Given the description of an element on the screen output the (x, y) to click on. 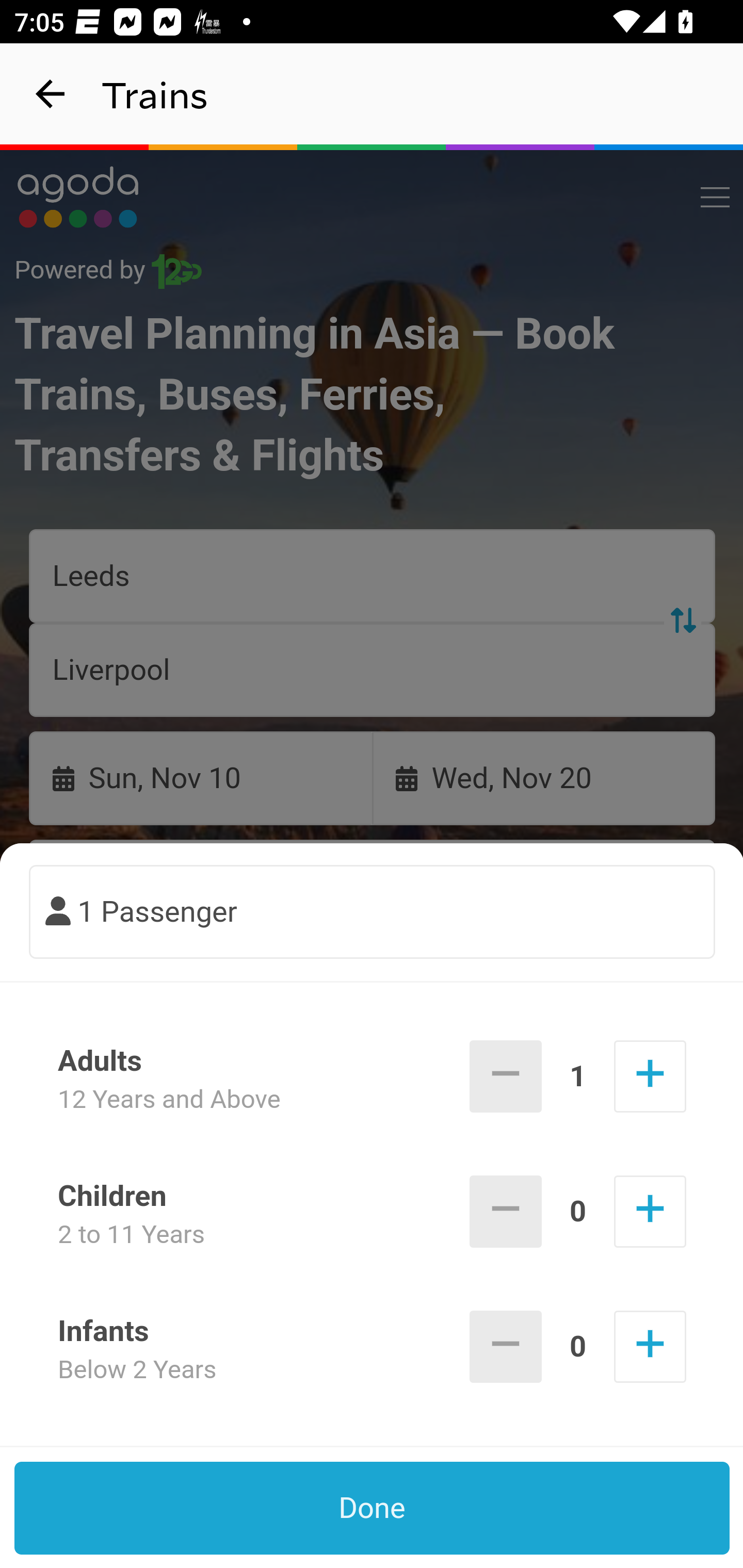
navigation_button (50, 93)
Find Tickets (372, 992)
Done (372, 1508)
